Given the description of an element on the screen output the (x, y) to click on. 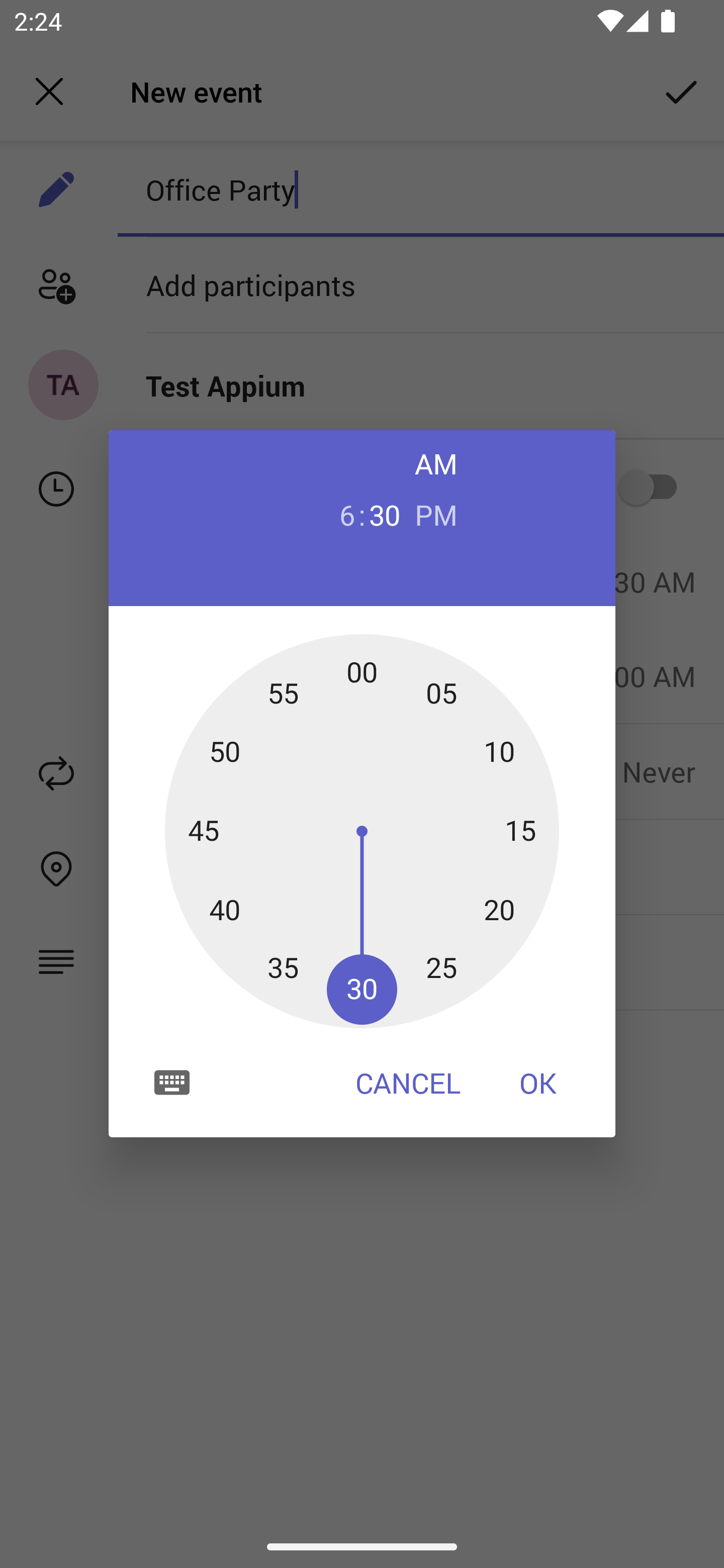
AM (435, 463)
PM (435, 514)
6 (338, 514)
30 (384, 514)
CANCEL (407, 1082)
OK (537, 1082)
Switch to text input mode for the time input. (171, 1081)
